Given the description of an element on the screen output the (x, y) to click on. 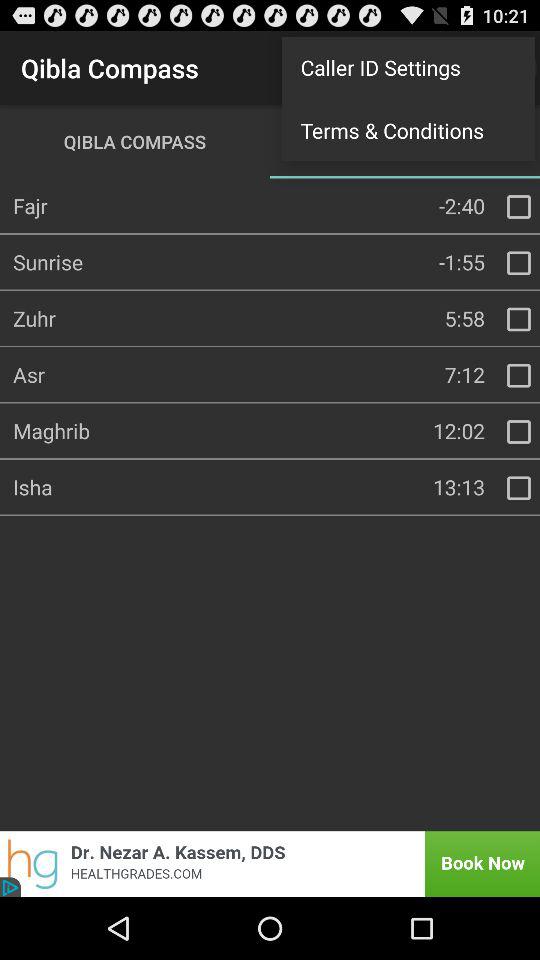
open sunrise (519, 263)
